Given the description of an element on the screen output the (x, y) to click on. 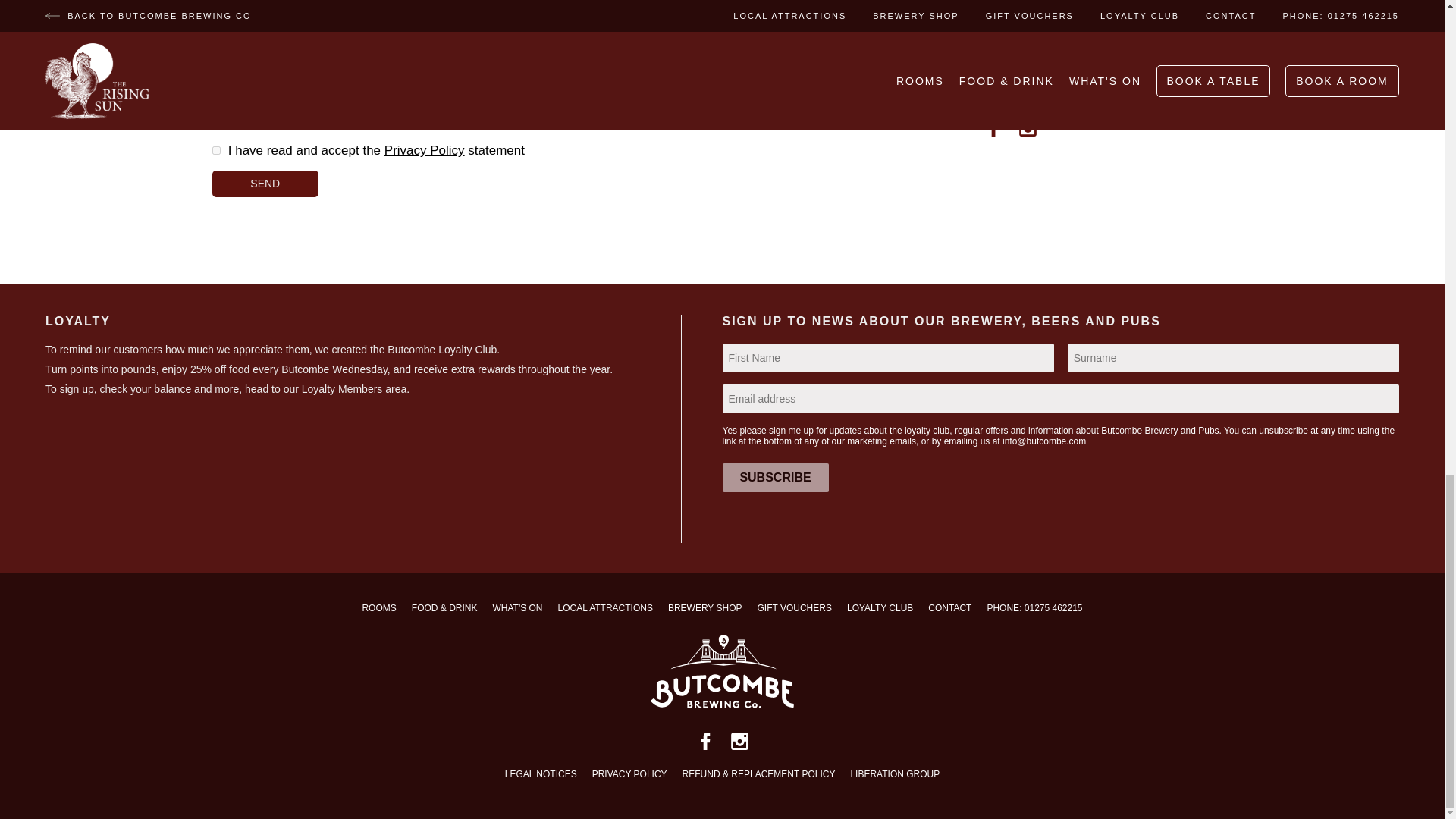
LOYALTY CLUB (879, 608)
Butcombe Brewery (722, 723)
PHONE: 01275 462215 (1034, 608)
WHAT'S ON (516, 608)
01275 462215 (1025, 88)
Loyalty Members area (354, 388)
Privacy Policy (424, 150)
BREWERY SHOP (705, 608)
subscribe (775, 477)
CONTACT (949, 608)
SEND (265, 183)
LOCAL ATTRACTIONS (604, 608)
ROOMS (378, 608)
subscribe (775, 477)
GIFT VOUCHERS (794, 608)
